Given the description of an element on the screen output the (x, y) to click on. 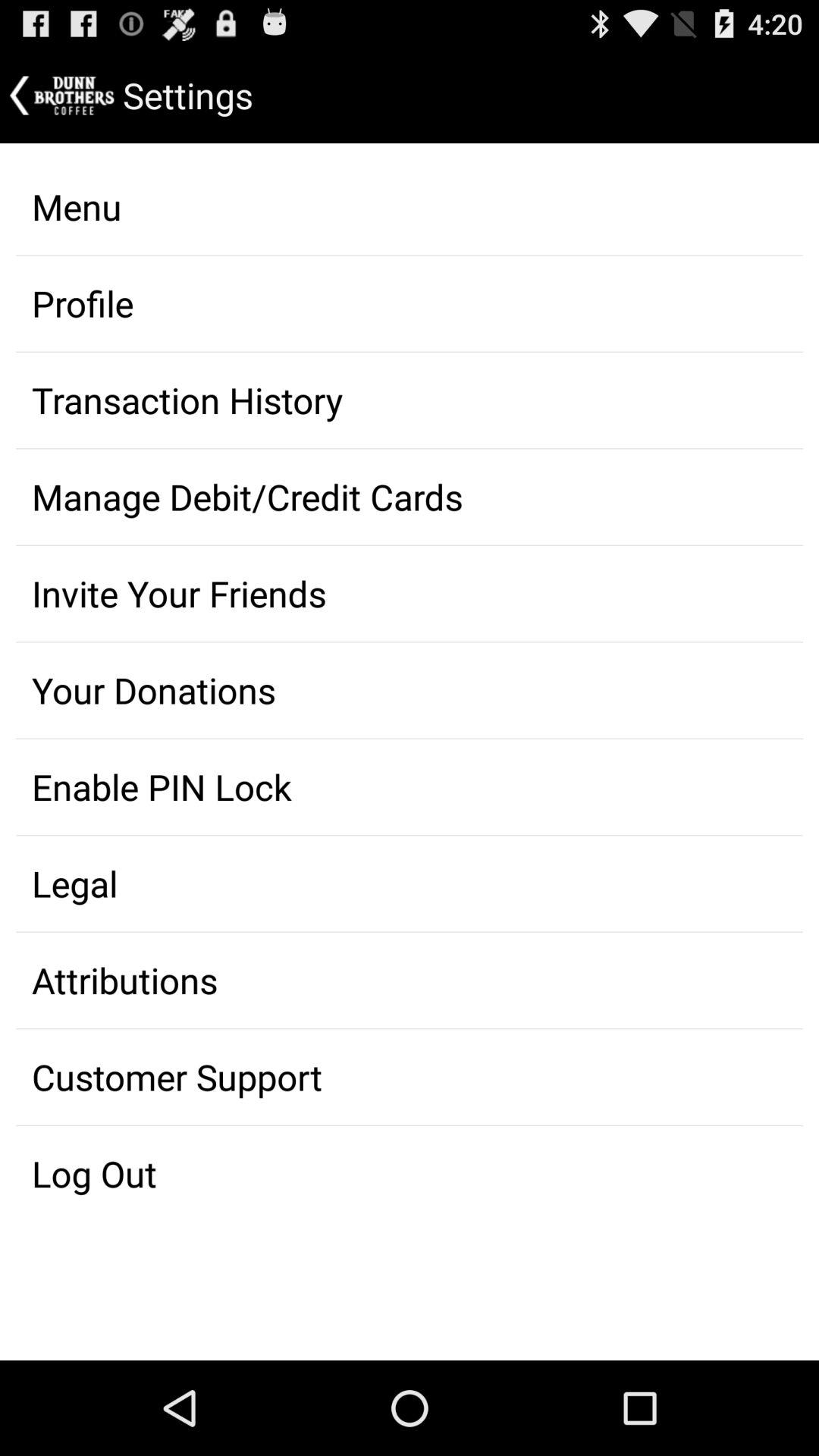
tap legal (409, 883)
